Given the description of an element on the screen output the (x, y) to click on. 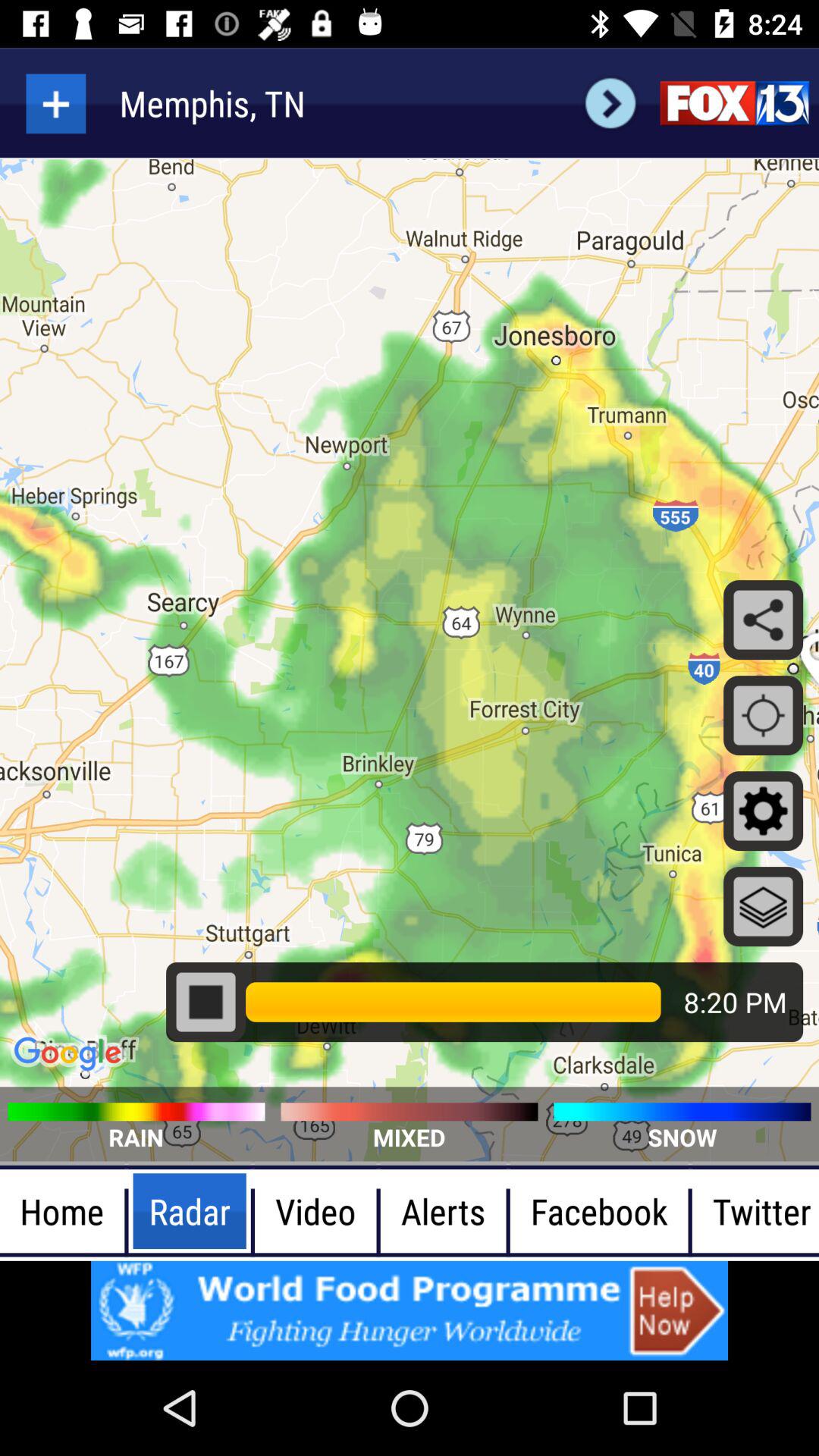
infromation (409, 1310)
